Given the description of an element on the screen output the (x, y) to click on. 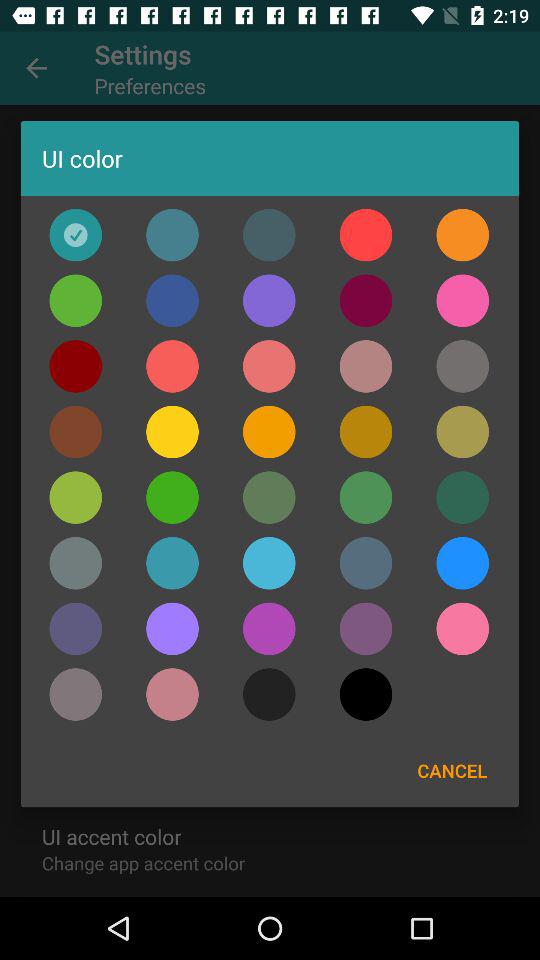
choose black color (269, 694)
